Given the description of an element on the screen output the (x, y) to click on. 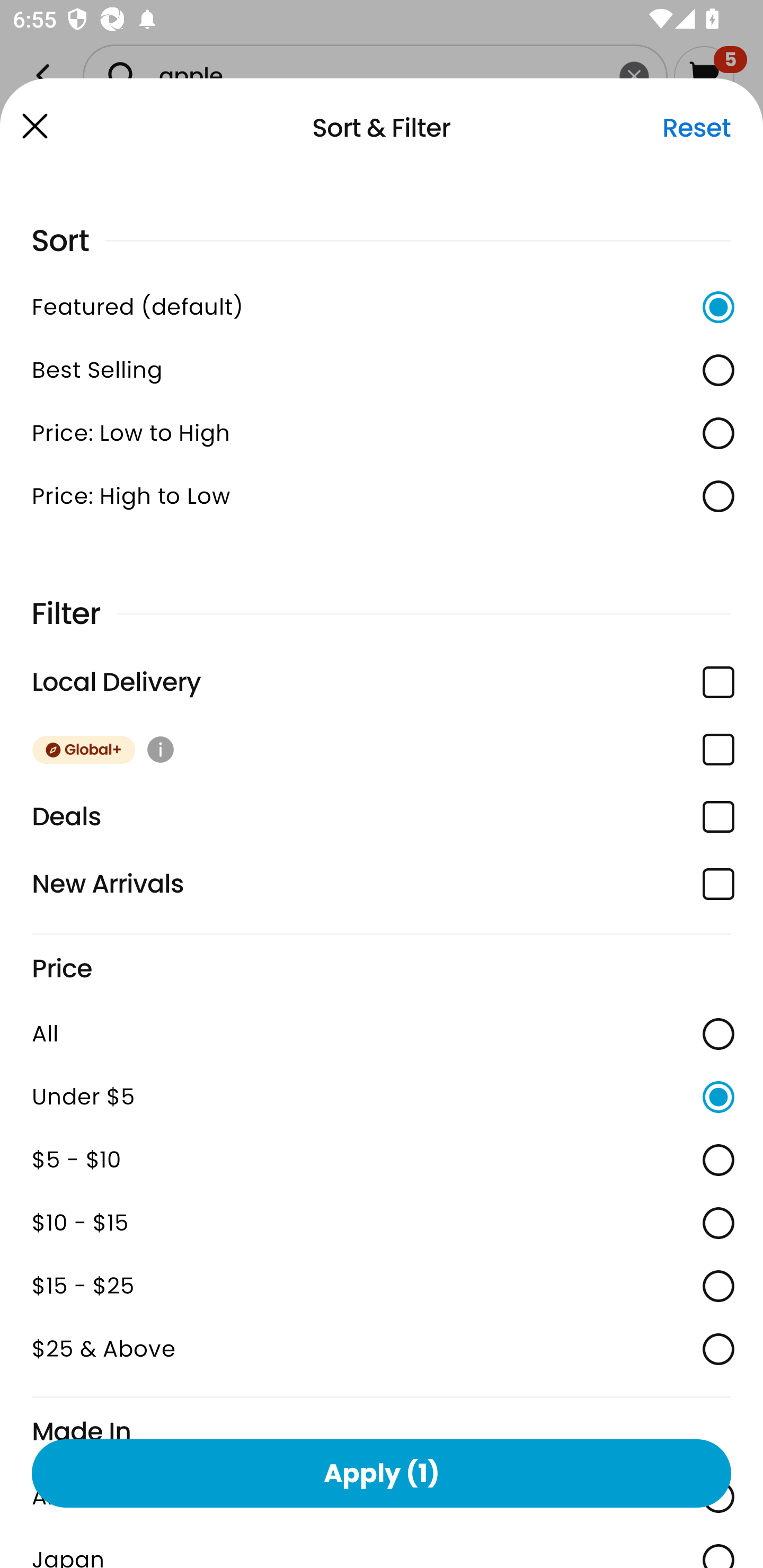
Reset (696, 127)
Apply (1) (381, 1472)
